Given the description of an element on the screen output the (x, y) to click on. 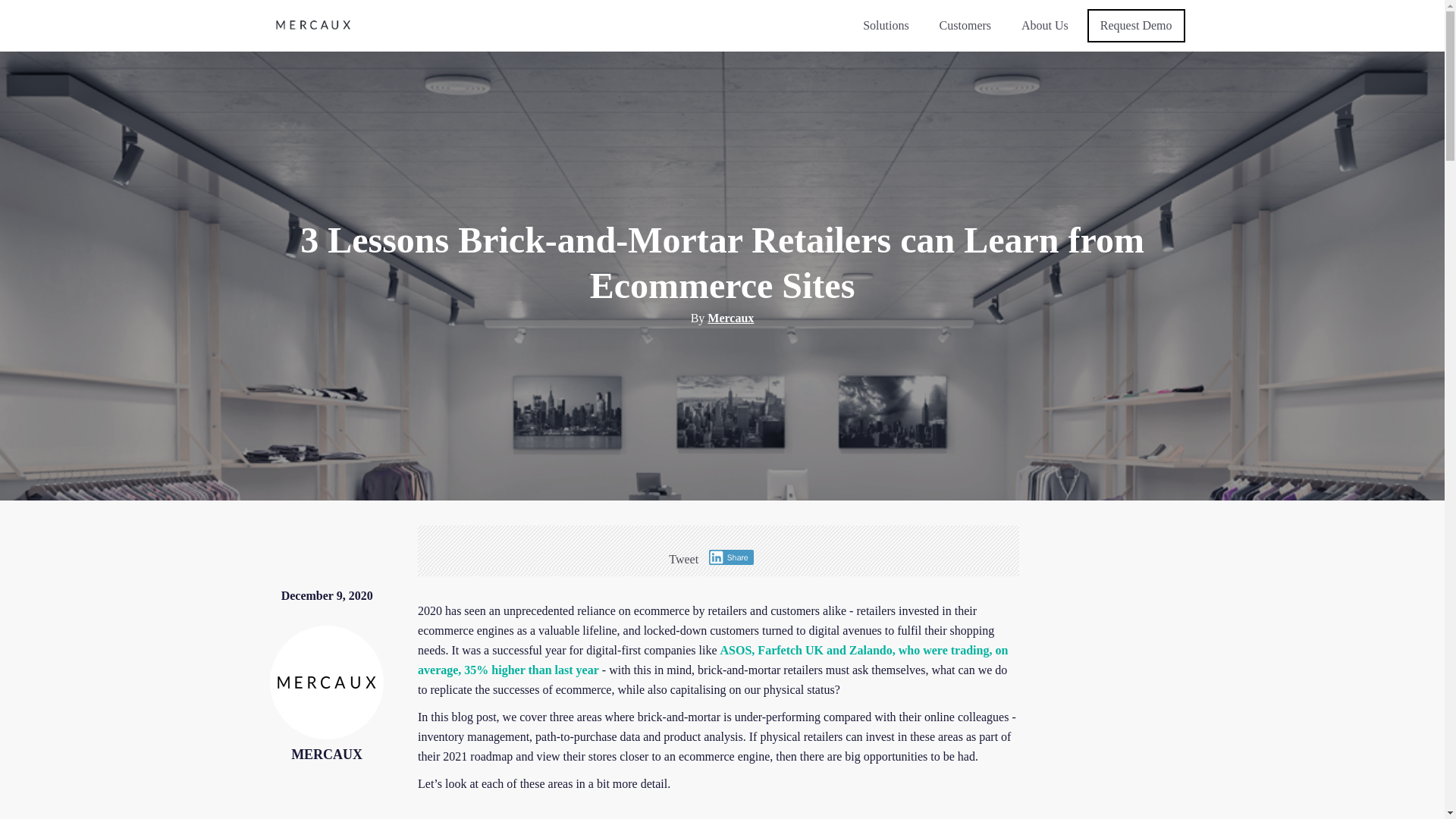
Customers (965, 25)
Tweet (683, 558)
Mercaux (730, 318)
mercaux-logo-landscape-1 (313, 25)
Solutions (885, 25)
About Us (1045, 25)
Request Demo (1136, 25)
Share (731, 557)
